Given the description of an element on the screen output the (x, y) to click on. 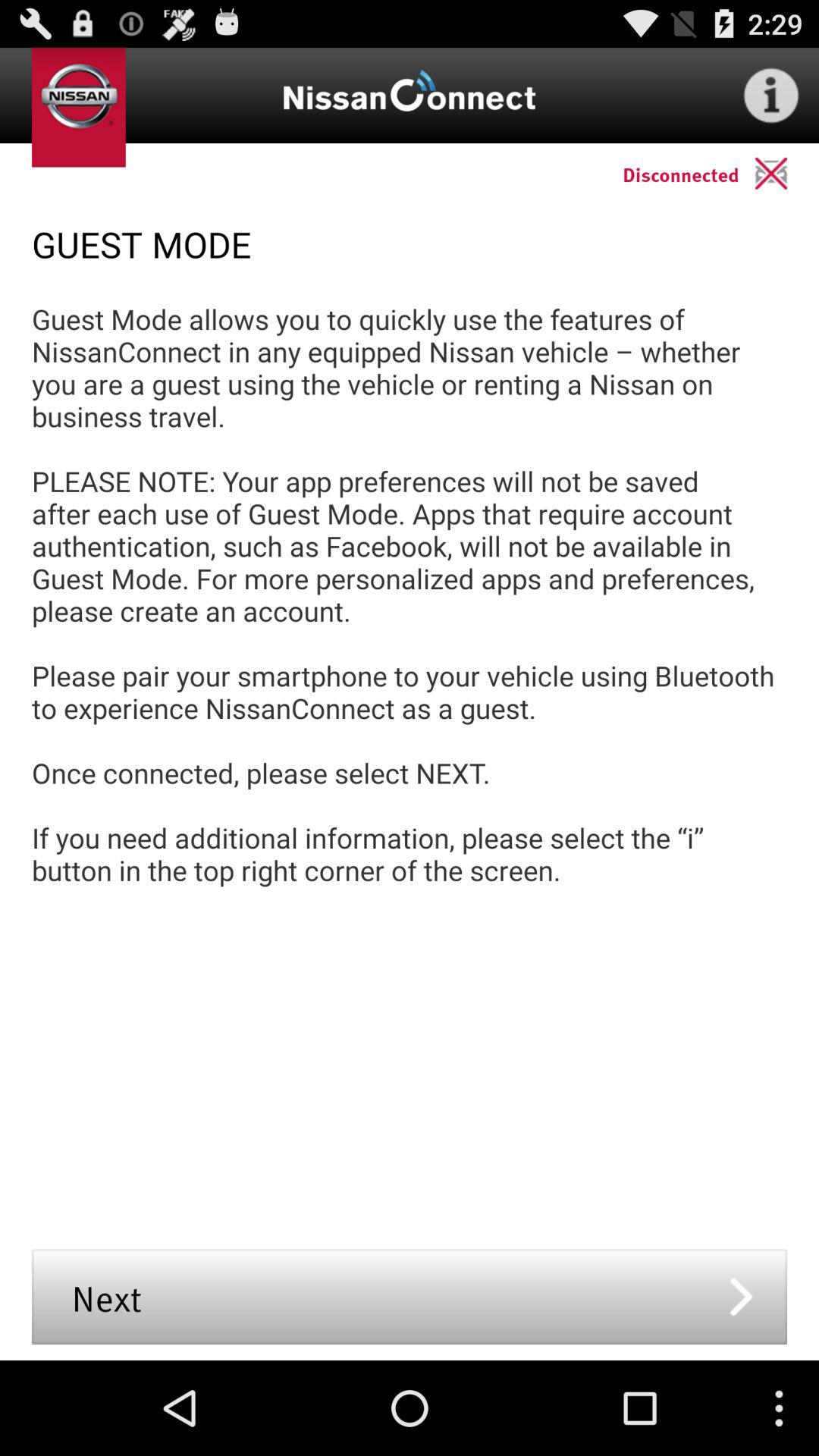
choose the app above guest mode app (787, 173)
